Given the description of an element on the screen output the (x, y) to click on. 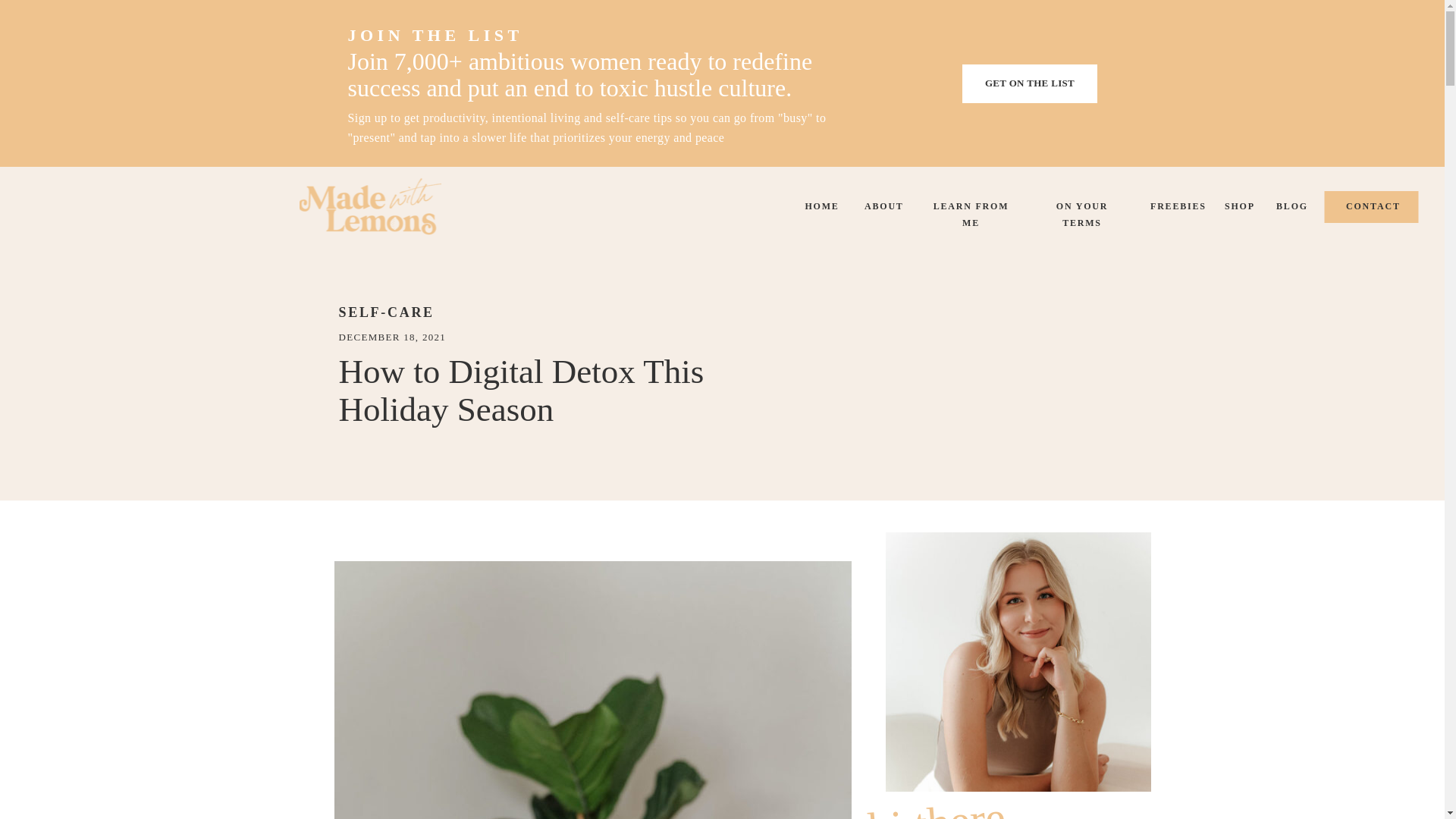
ABOUT (882, 207)
Advertisement (1007, 371)
SHOP (1238, 207)
ON YOUR TERMS (1082, 207)
LEARN FROM ME (970, 207)
SELF-CARE (385, 312)
CONTACT (1369, 207)
FREEBIES (1175, 207)
JOIN THE LIST (485, 29)
BLOG (1291, 207)
